Given the description of an element on the screen output the (x, y) to click on. 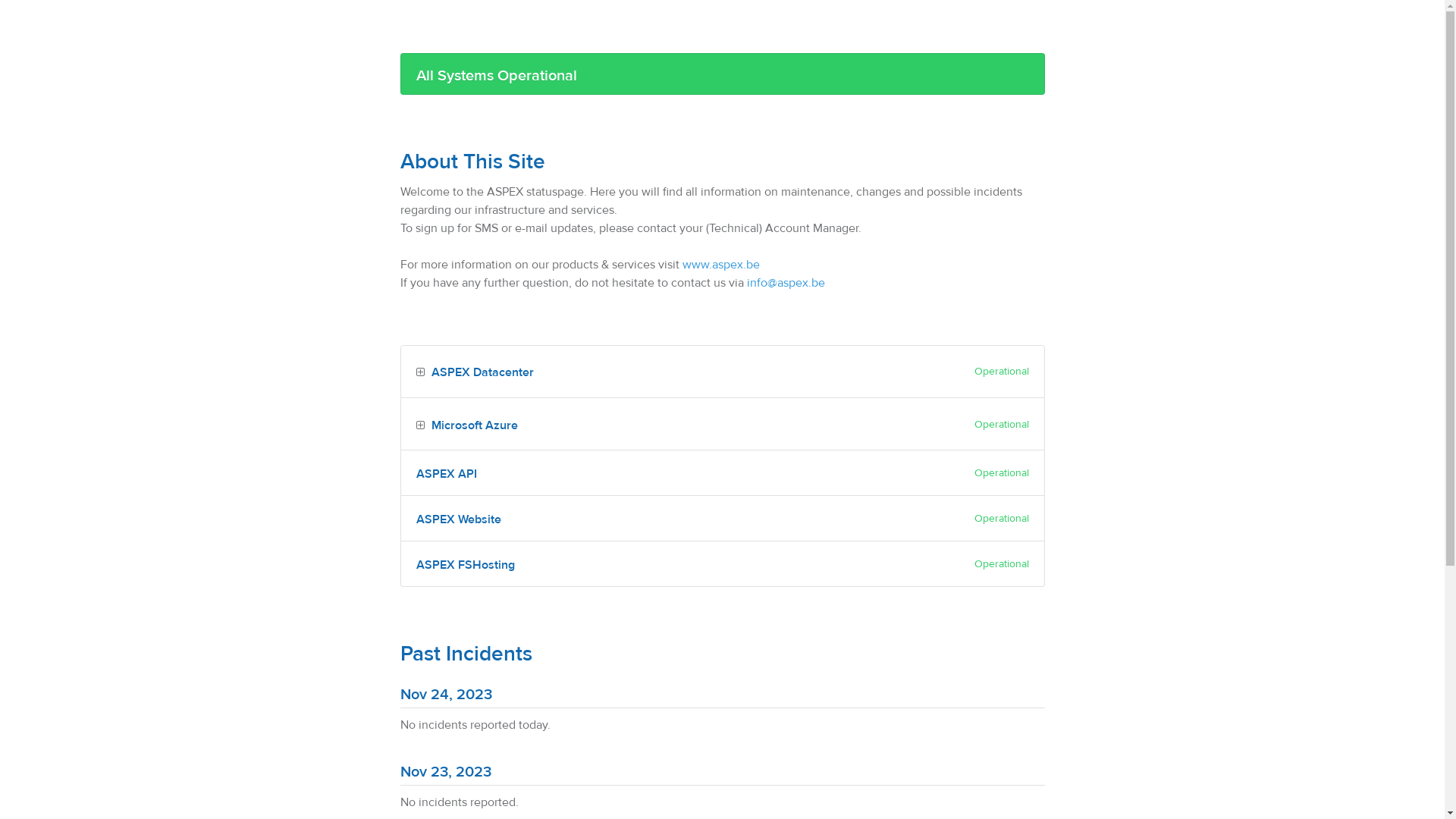
info@aspex.be Element type: text (785, 282)
Past Incidents Element type: text (466, 653)
About This Site Element type: text (472, 161)
www.aspex.be Element type: text (720, 264)
